Given the description of an element on the screen output the (x, y) to click on. 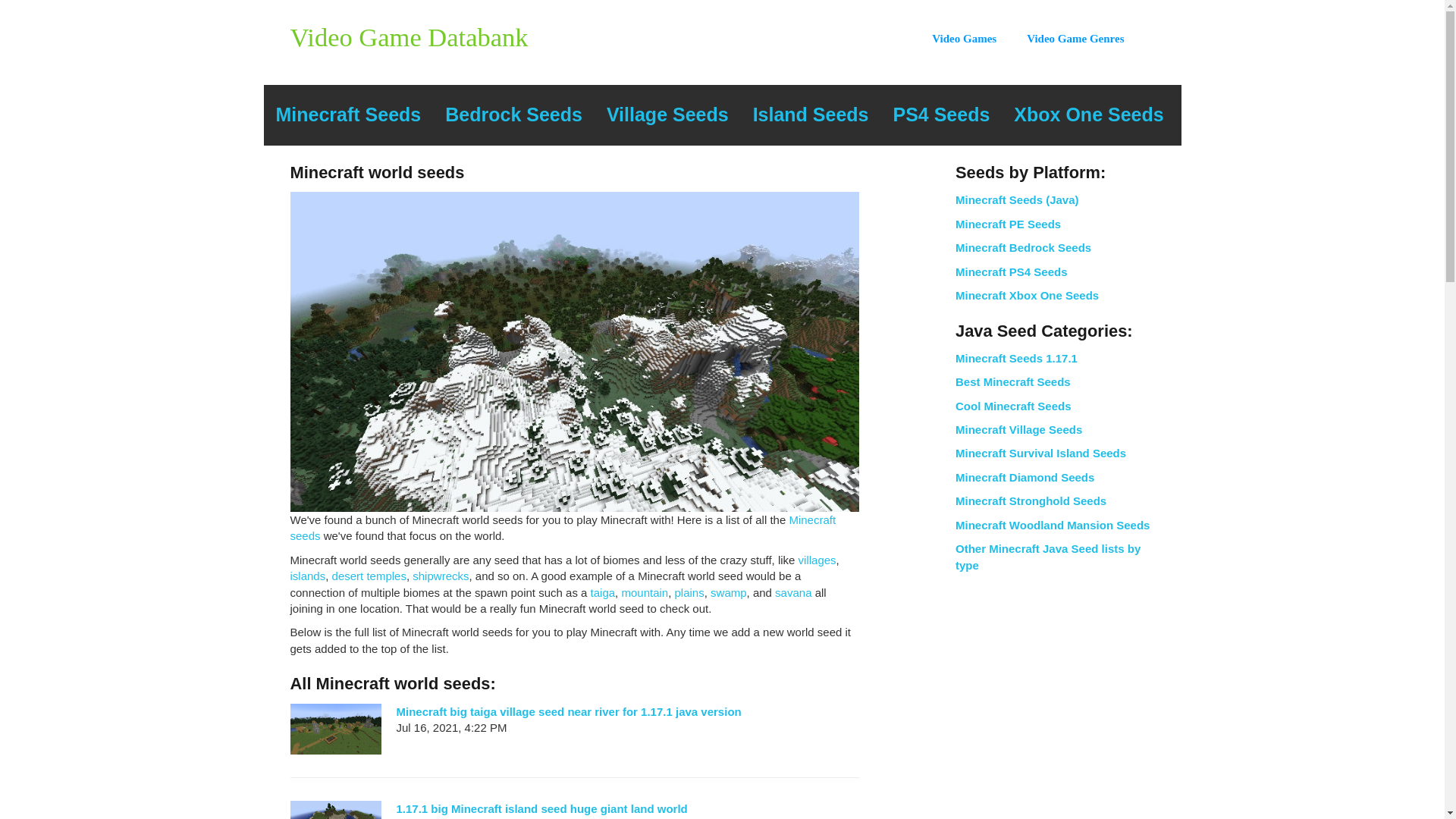
Island Seeds (810, 115)
Minecraft seeds (562, 527)
Video Games (978, 38)
Minecraft Seeds (348, 115)
Minecraft PS4 Seeds (1011, 271)
islands (306, 575)
Xbox One Seeds (1087, 115)
villages (816, 559)
desert temples (368, 575)
Video Game Databank (408, 36)
Cool Minecraft Seeds (1013, 405)
savana (792, 592)
swamp (728, 592)
1.17.1 big Minecraft island seed huge giant land world (541, 808)
